Given the description of an element on the screen output the (x, y) to click on. 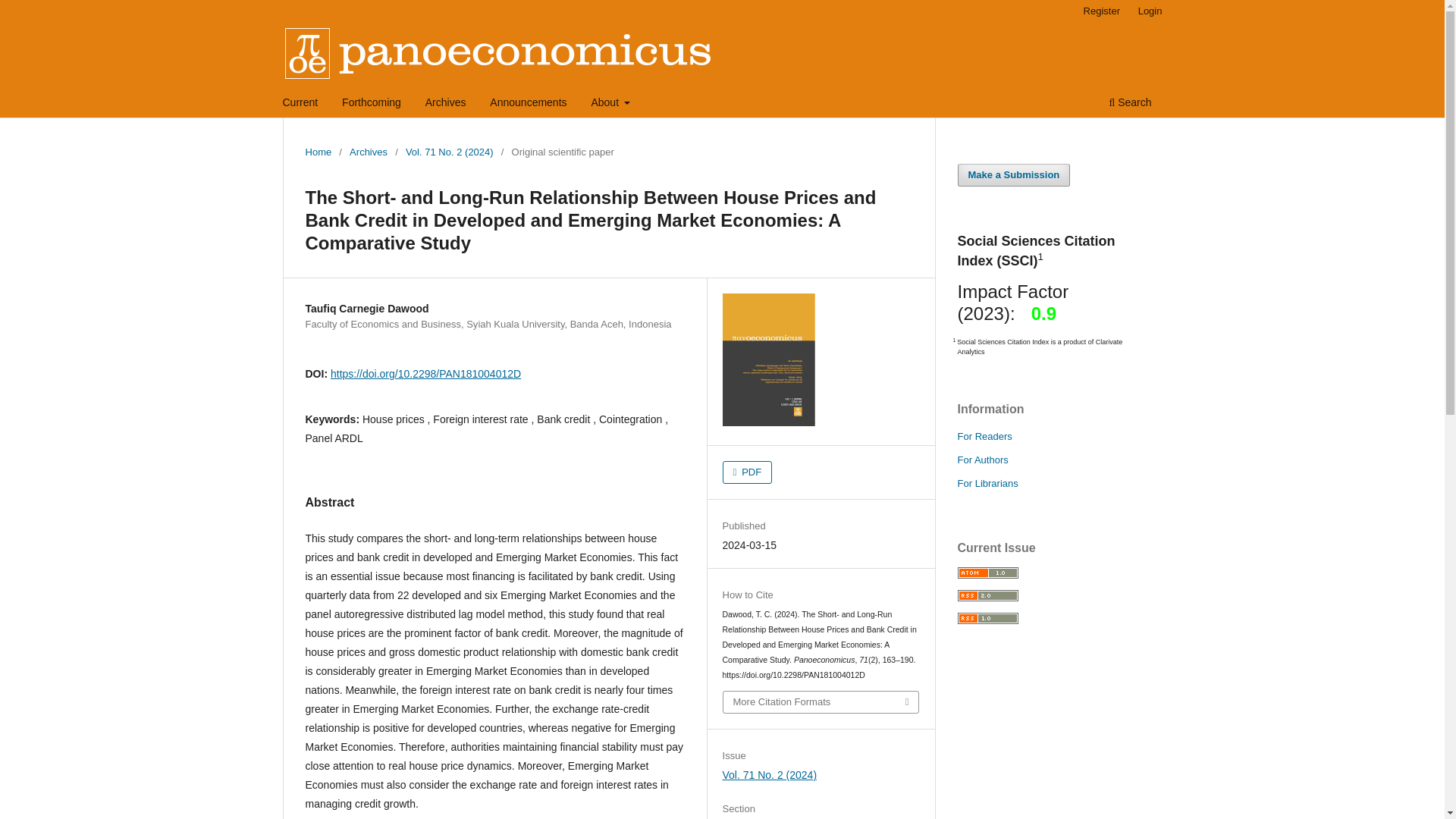
Register (1100, 11)
About (609, 103)
Archives (368, 151)
More Citation Formats (820, 701)
Current (300, 103)
Archives (445, 103)
Login (1150, 11)
Announcements (528, 103)
Forthcoming (371, 103)
Home (317, 151)
